Given the description of an element on the screen output the (x, y) to click on. 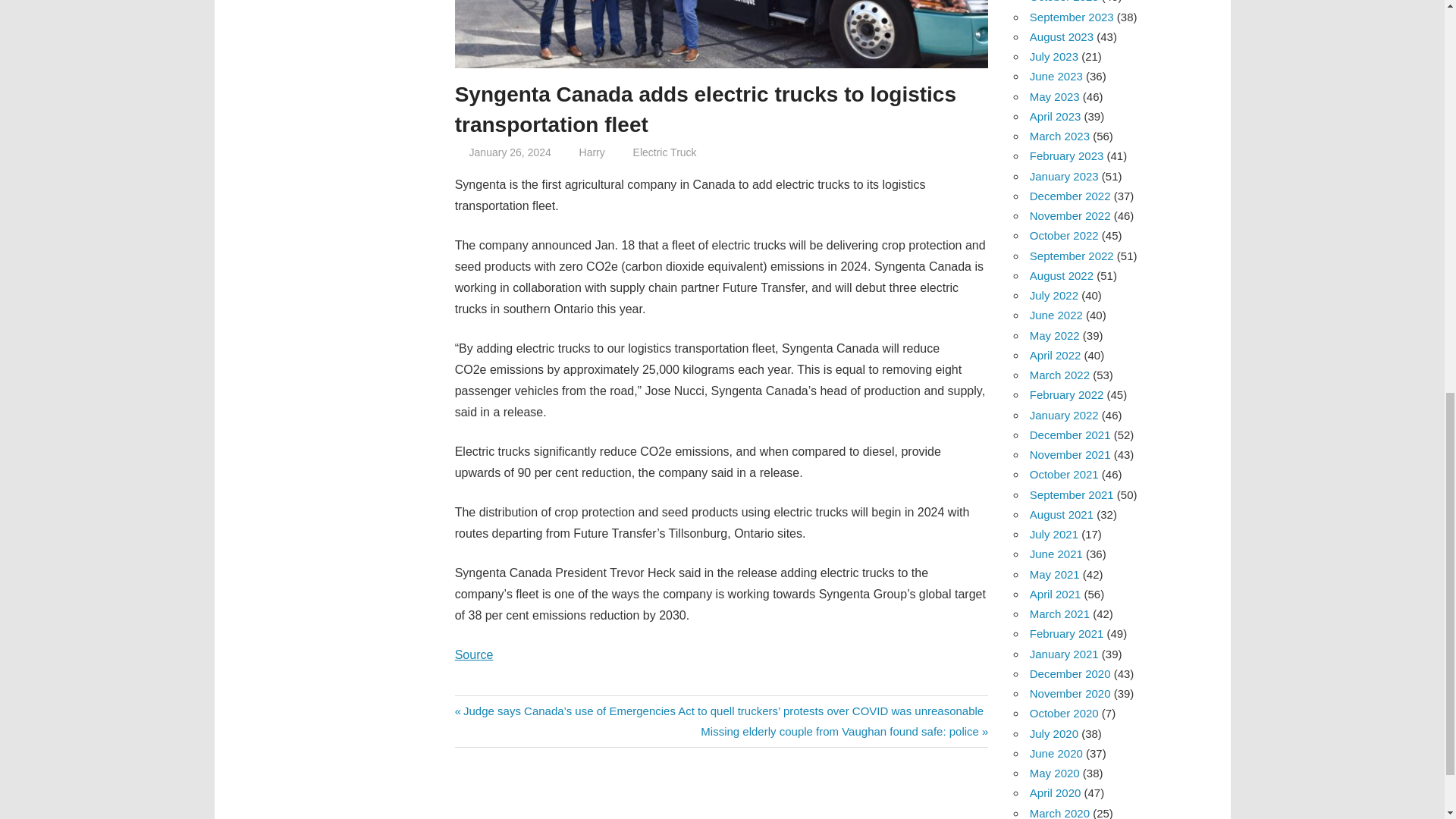
May 2023 (1054, 96)
Electric Truck (665, 152)
10:57 pm (509, 152)
September 2022 (1071, 255)
Harry (592, 152)
July 2023 (1053, 56)
View all posts by Harry (592, 152)
April 2023 (1055, 115)
September 2023 (1071, 16)
